Given the description of an element on the screen output the (x, y) to click on. 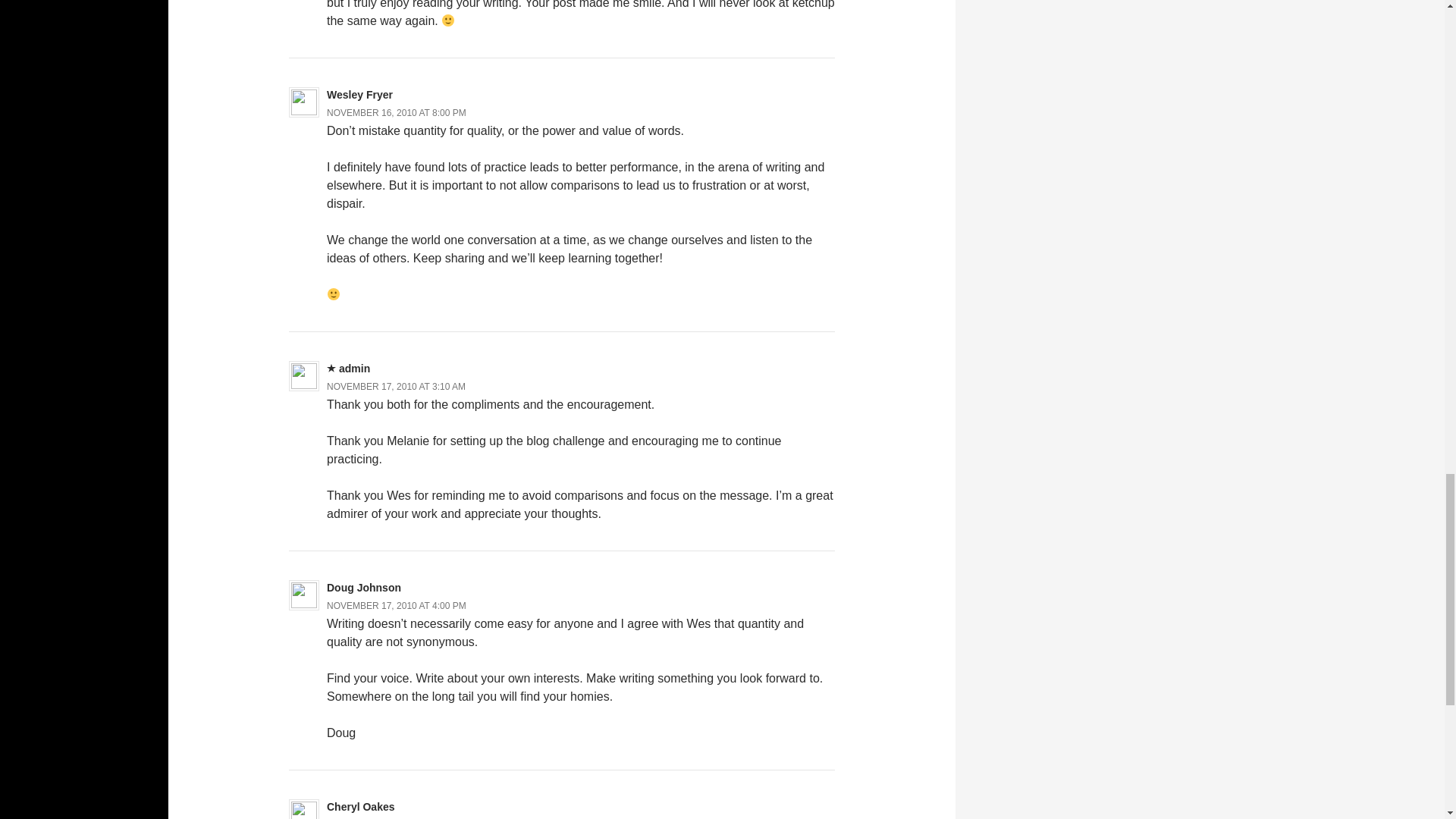
Wesley Fryer (359, 94)
NOVEMBER 17, 2010 AT 4:00 PM (395, 605)
NOVEMBER 17, 2010 AT 3:10 AM (395, 386)
Cheryl Oakes (360, 806)
NOVEMBER 16, 2010 AT 8:00 PM (395, 112)
